Given the description of an element on the screen output the (x, y) to click on. 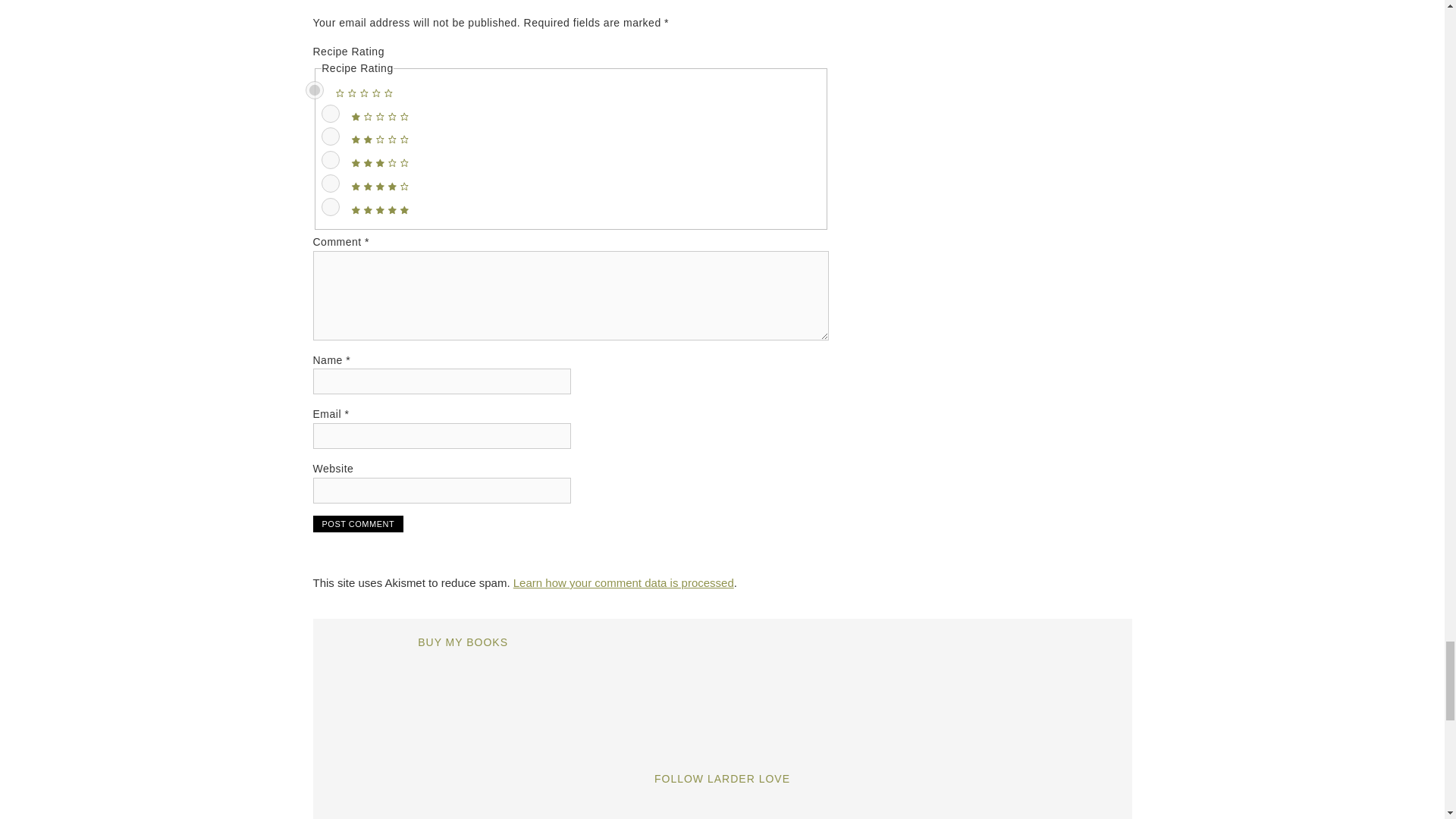
Post Comment (358, 523)
3 (330, 159)
1 (330, 113)
4 (330, 183)
2 (330, 136)
5 (330, 207)
0 (314, 90)
